Given the description of an element on the screen output the (x, y) to click on. 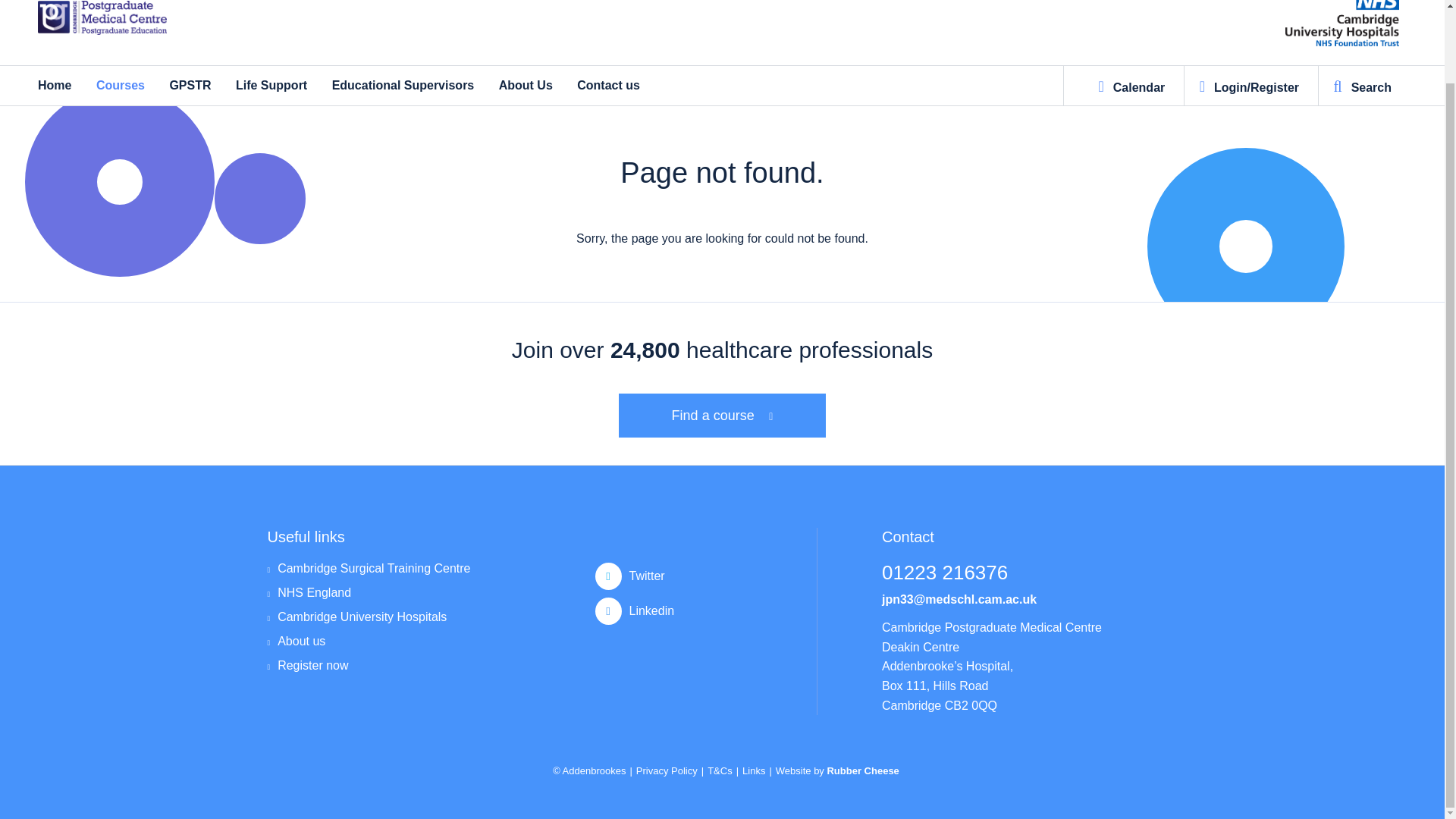
Cambridge University Hospitals (368, 622)
Register now (368, 671)
Links (753, 770)
01223 216376 (1027, 577)
Courses (120, 83)
Website by Rubber Cheese (837, 770)
Life Support (271, 83)
Home (54, 83)
Search (1361, 85)
Linkedin (703, 610)
